Given the description of an element on the screen output the (x, y) to click on. 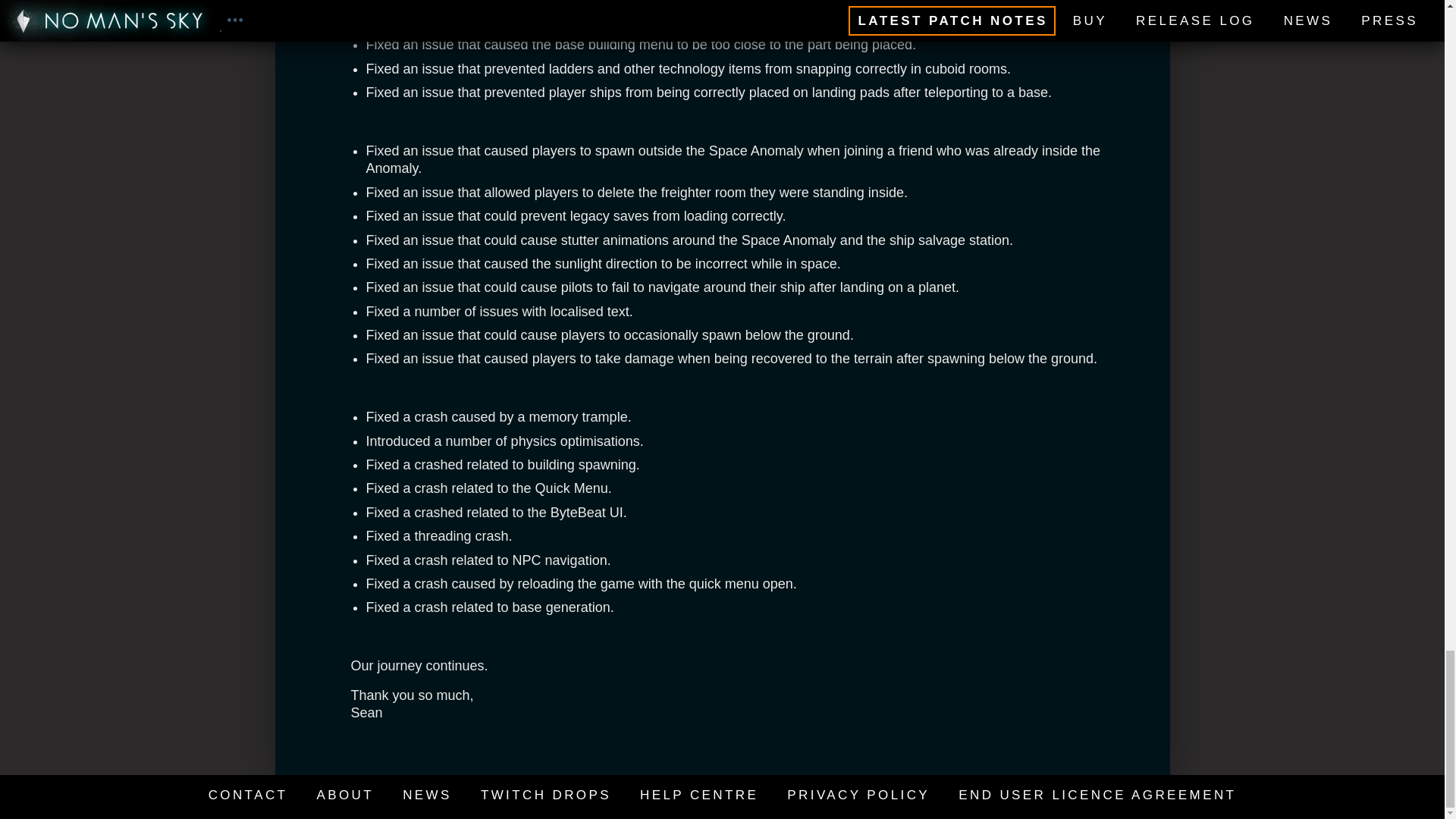
TWITTER (1376, 793)
END USER LICENCE AGREEMENT (1097, 794)
Hello Games (1418, 793)
ABOUT (344, 794)
HELP CENTRE (699, 794)
TWITCH DROPS (545, 794)
TWITTER (1333, 793)
CONTACT (248, 794)
No Man's Sky on Twitter (1333, 793)
NEWS (427, 794)
